Given the description of an element on the screen output the (x, y) to click on. 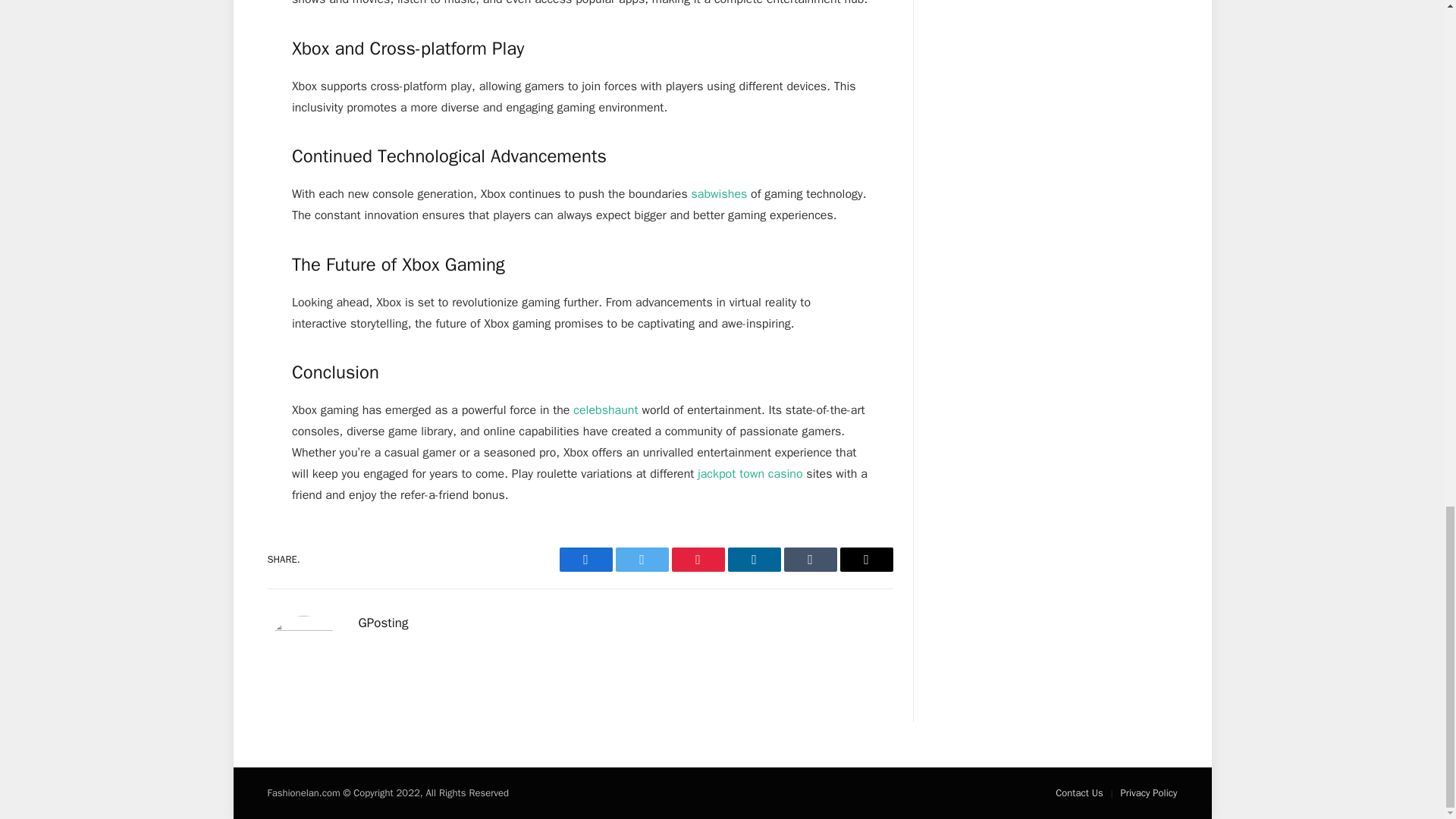
celebshaunt (605, 409)
jackpot town casino (749, 473)
sabwishes (719, 193)
